Given the description of an element on the screen output the (x, y) to click on. 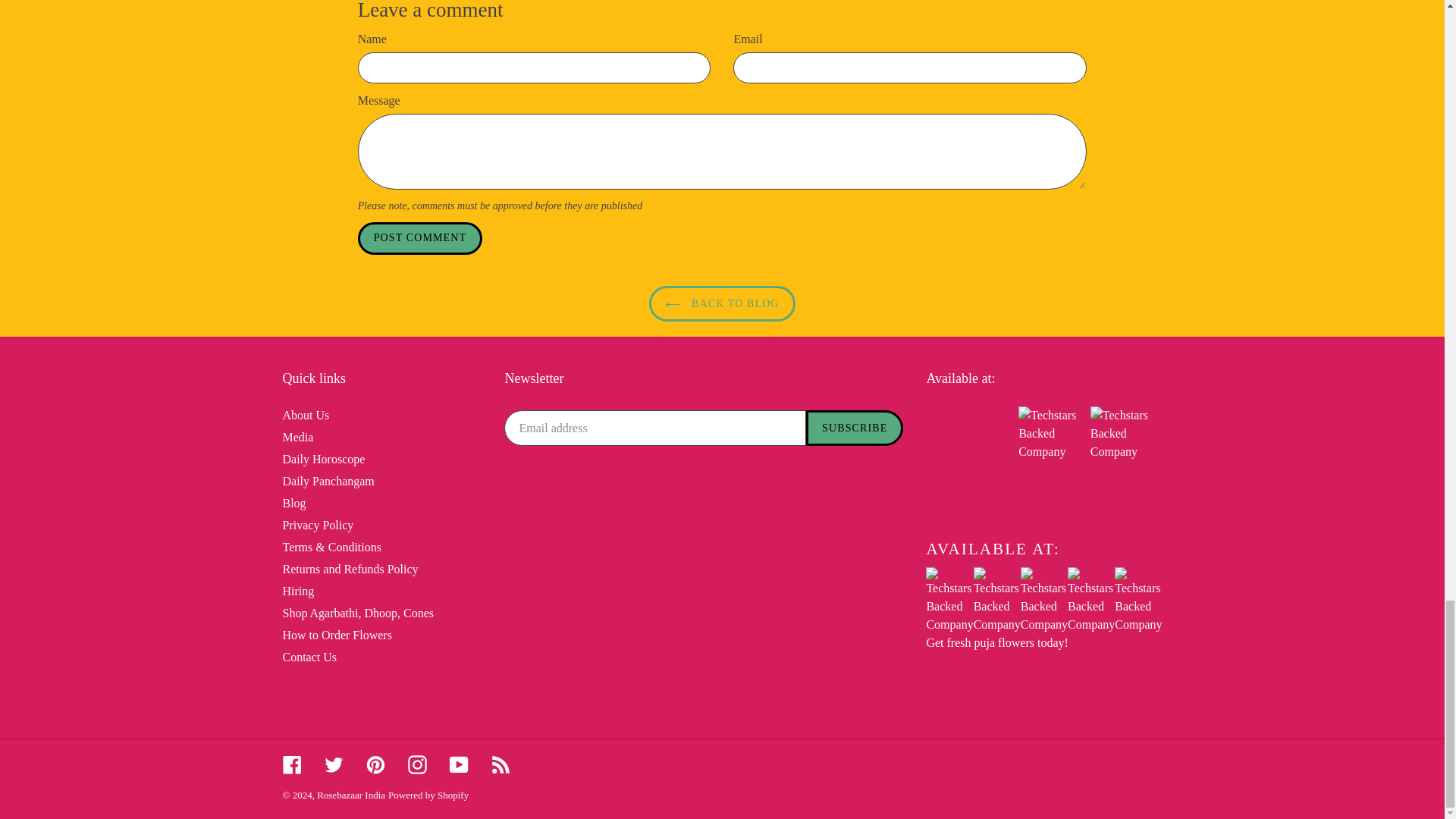
Blog (293, 502)
Post comment (419, 237)
Post comment (419, 237)
BACK TO BLOG (721, 303)
Daily Horoscope (323, 459)
Media (297, 436)
About Us (305, 414)
Daily Panchangam (328, 481)
